Given the description of an element on the screen output the (x, y) to click on. 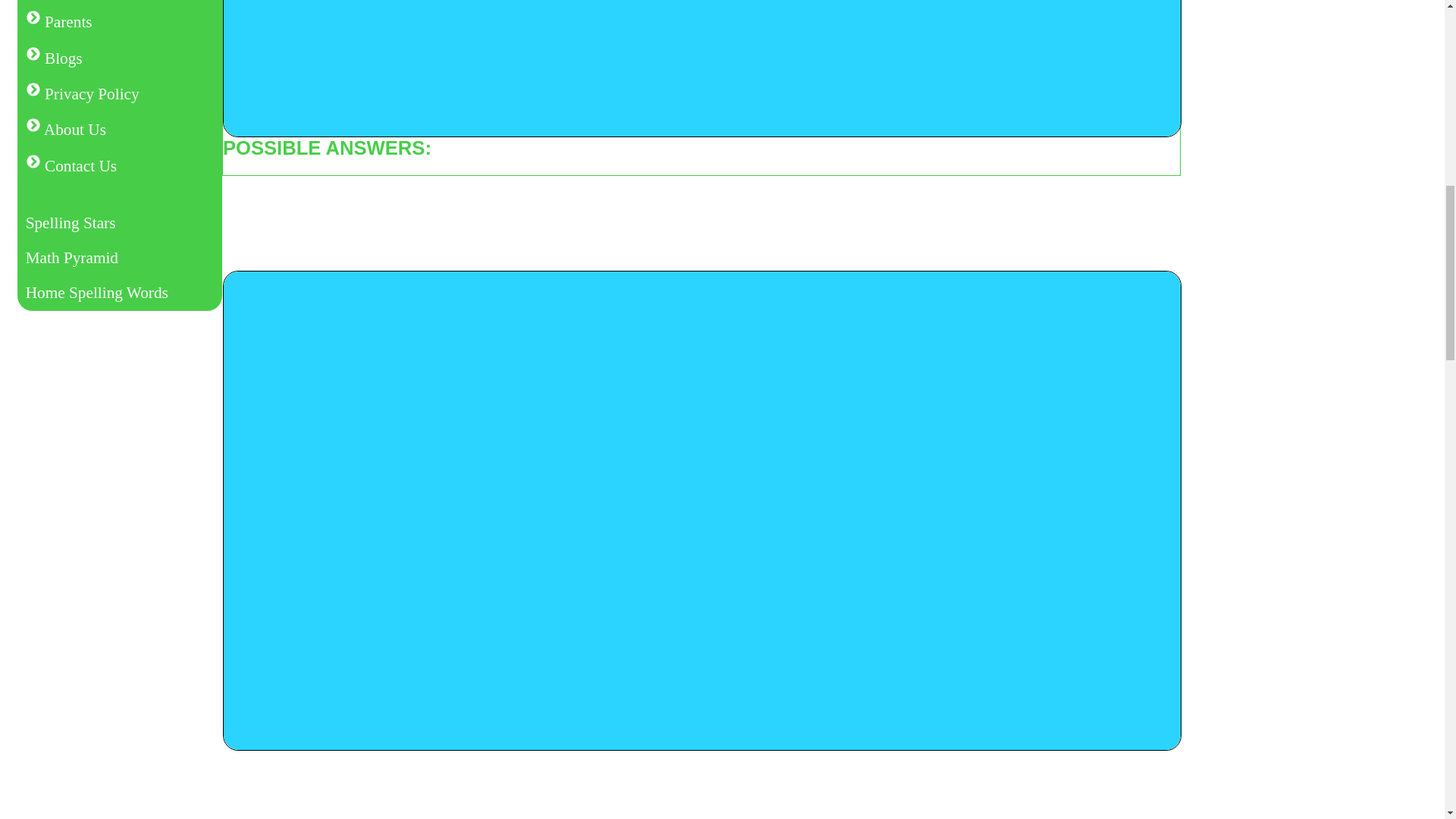
Math Pyramid (119, 257)
Privacy Policy (119, 93)
Parents (119, 22)
Home Spelling Words (119, 293)
Spelling Stars (119, 222)
Privacy Policy (119, 93)
About Us (119, 130)
Blogs (119, 58)
Contact Us (119, 165)
Teachers (119, 2)
